Given the description of an element on the screen output the (x, y) to click on. 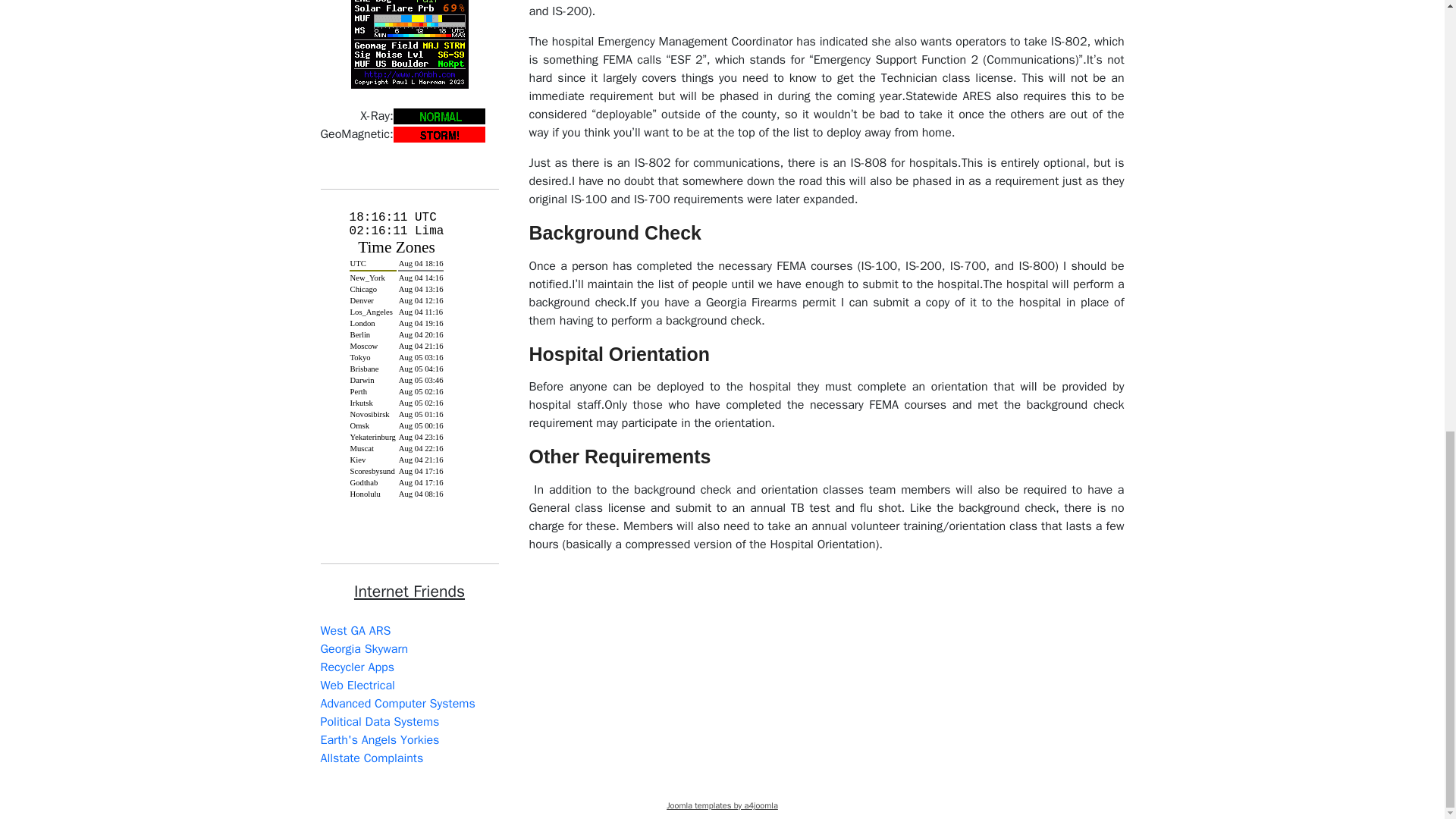
Recycler Apps (356, 667)
West GA ARS (355, 630)
Georgia Skywarn (363, 648)
Advanced Computer Systems (397, 703)
Web Electrical (357, 685)
